Given the description of an element on the screen output the (x, y) to click on. 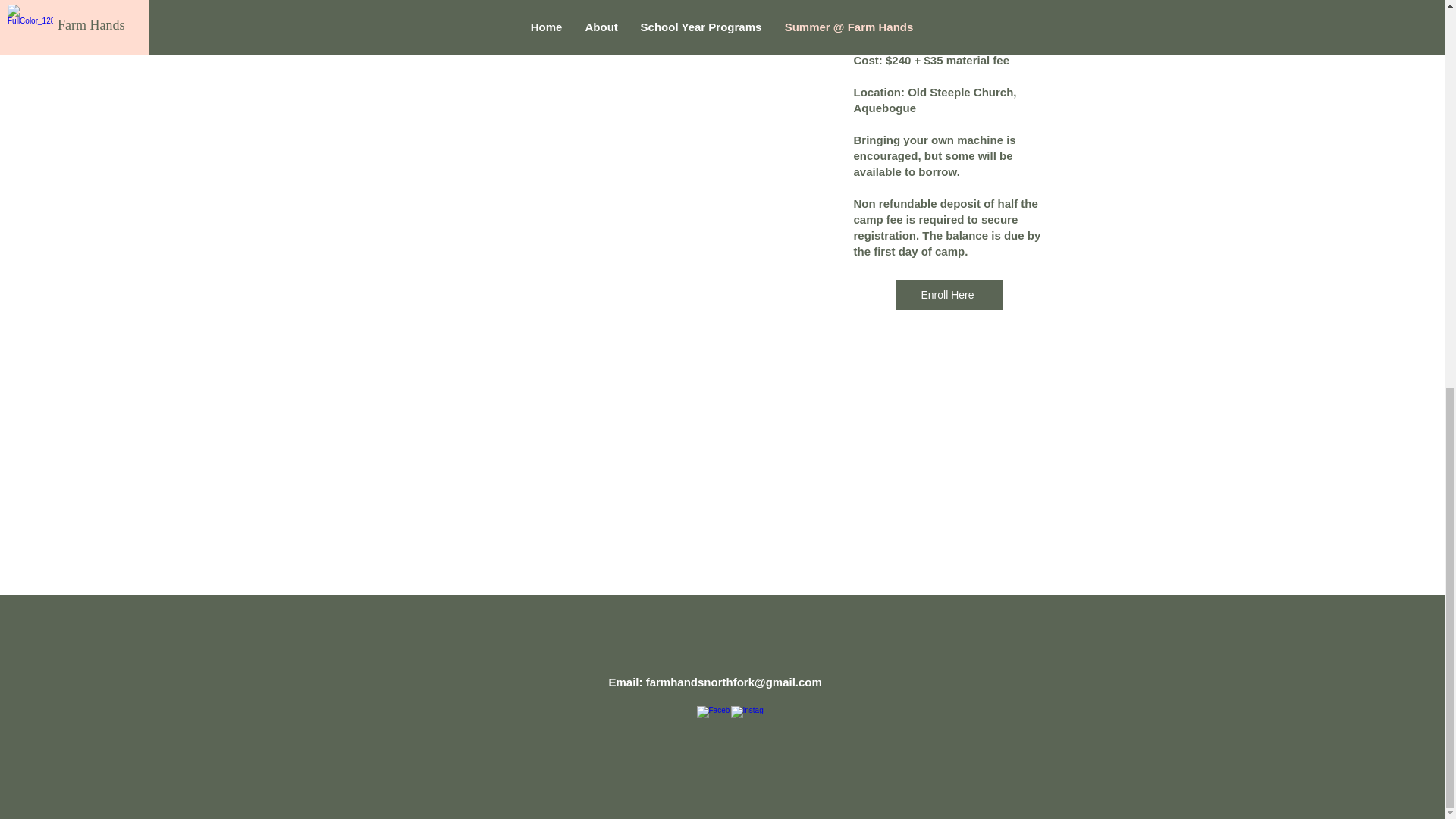
Enroll Here (949, 295)
